Given the description of an element on the screen output the (x, y) to click on. 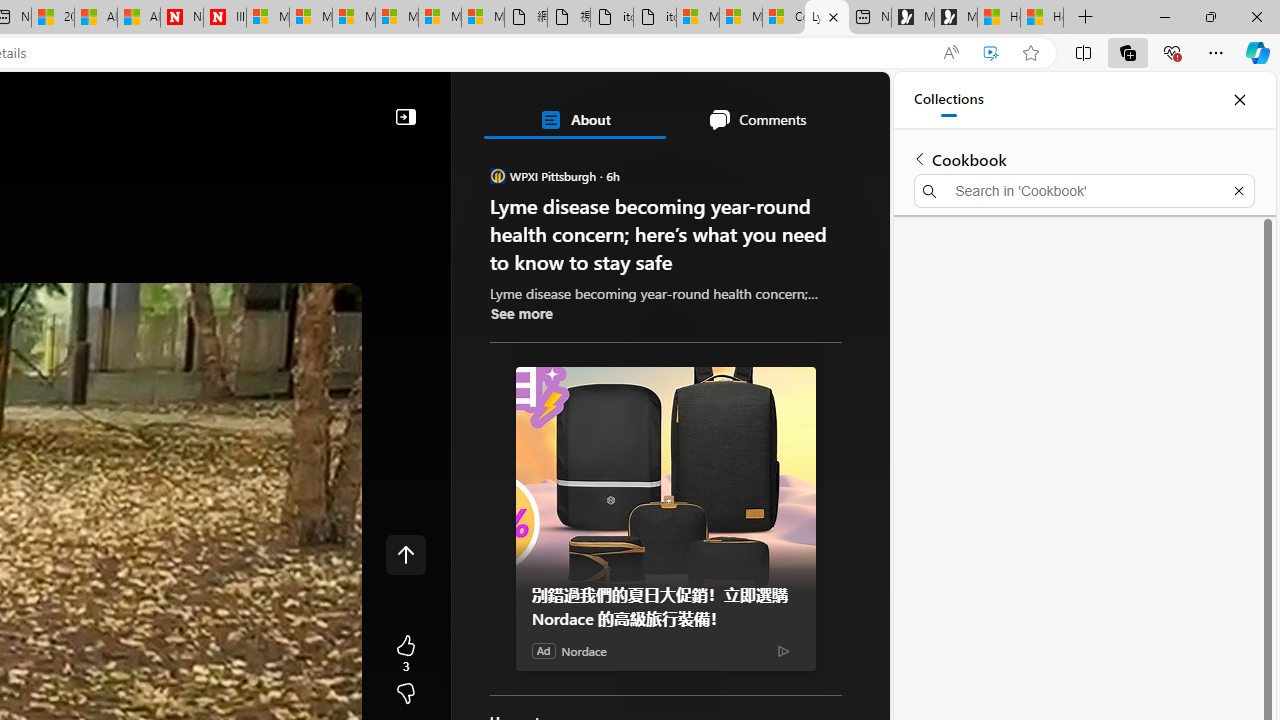
Class: control icon-only (406, 554)
Search in 'Cookbook' (1084, 190)
20 Ways to Boost Your Protein Intake at Every Meal (53, 17)
Microsoft Services Agreement (310, 17)
Enhance video (991, 53)
The Wall Street Journal (584, 645)
Exit search (1238, 190)
